Given the description of an element on the screen output the (x, y) to click on. 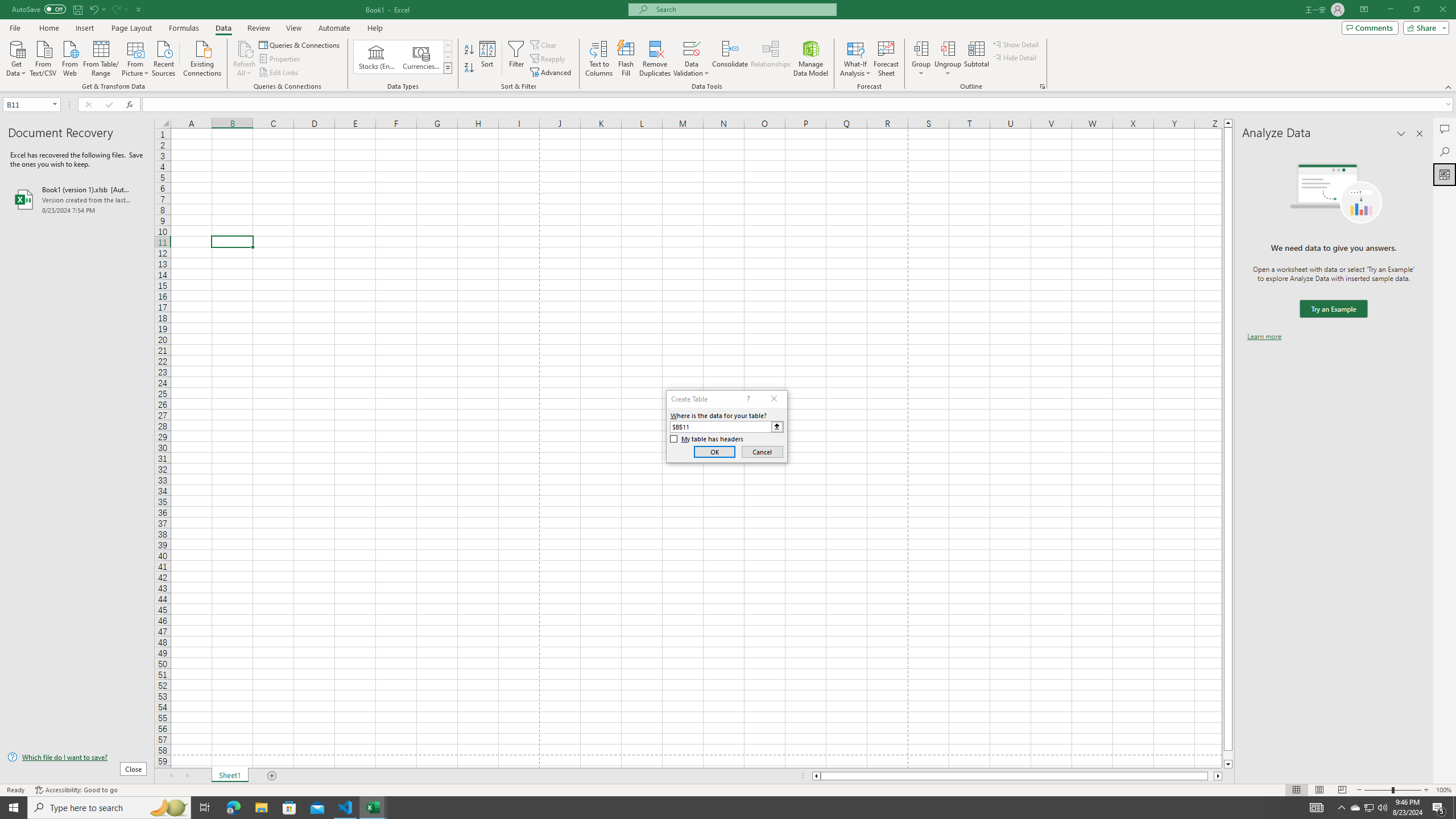
Row up (448, 45)
Formulas (184, 28)
Minimize (1390, 9)
Ungroup... (947, 48)
Accessibility Checker Accessibility: Good to go (76, 790)
Consolidate... (729, 58)
Recent Sources (163, 57)
From Table/Range (100, 57)
Sort A to Z (469, 49)
Manage Data Model (810, 58)
From Web (69, 57)
